Given the description of an element on the screen output the (x, y) to click on. 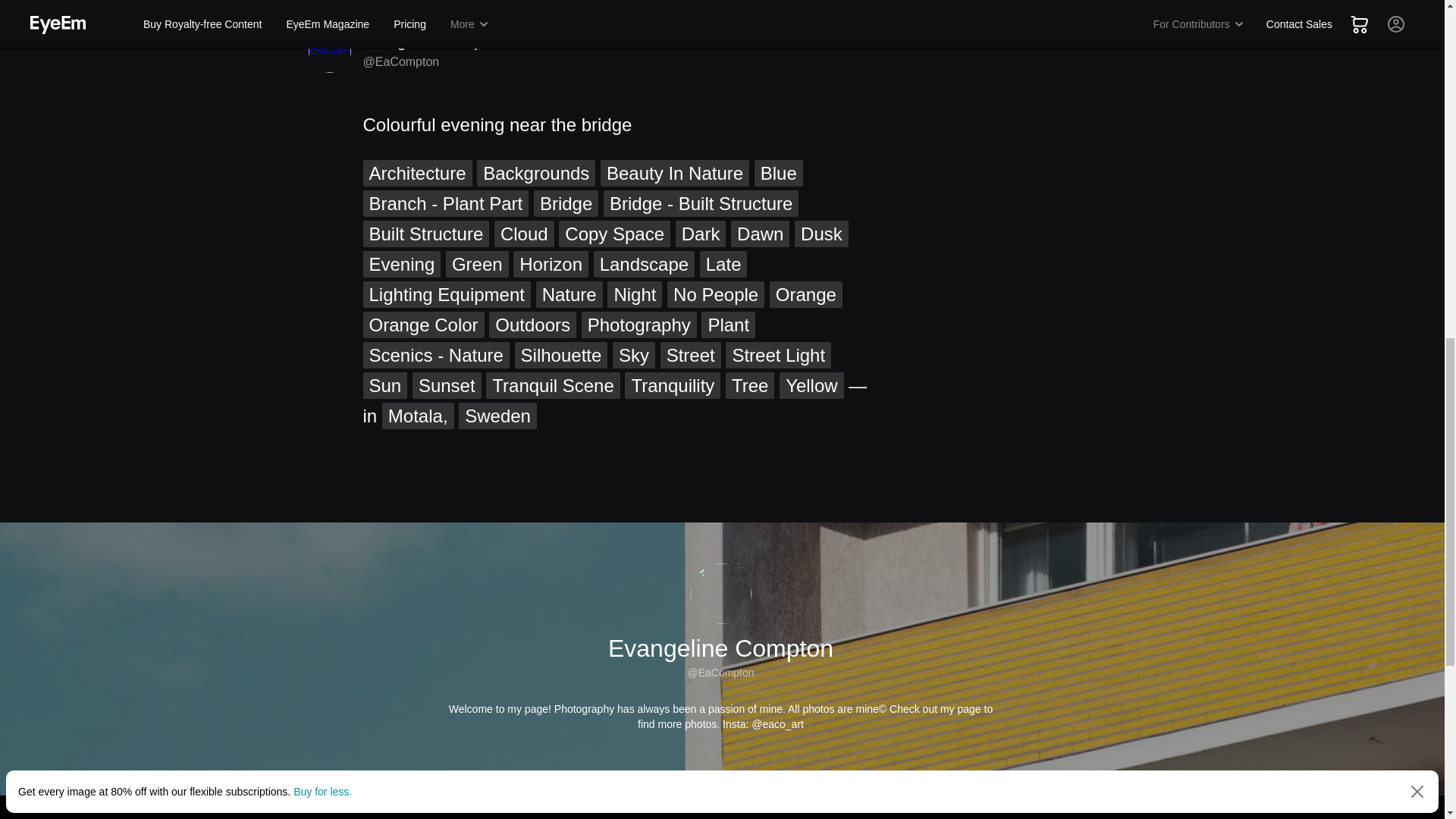
Nature (568, 294)
Dawn (759, 233)
Architecture (416, 172)
Horizon (550, 263)
Built Structure (425, 233)
Cloud (524, 233)
Green (476, 263)
Lighting Equipment (445, 294)
Branch - Plant Part (445, 203)
Dark (700, 233)
